Given the description of an element on the screen output the (x, y) to click on. 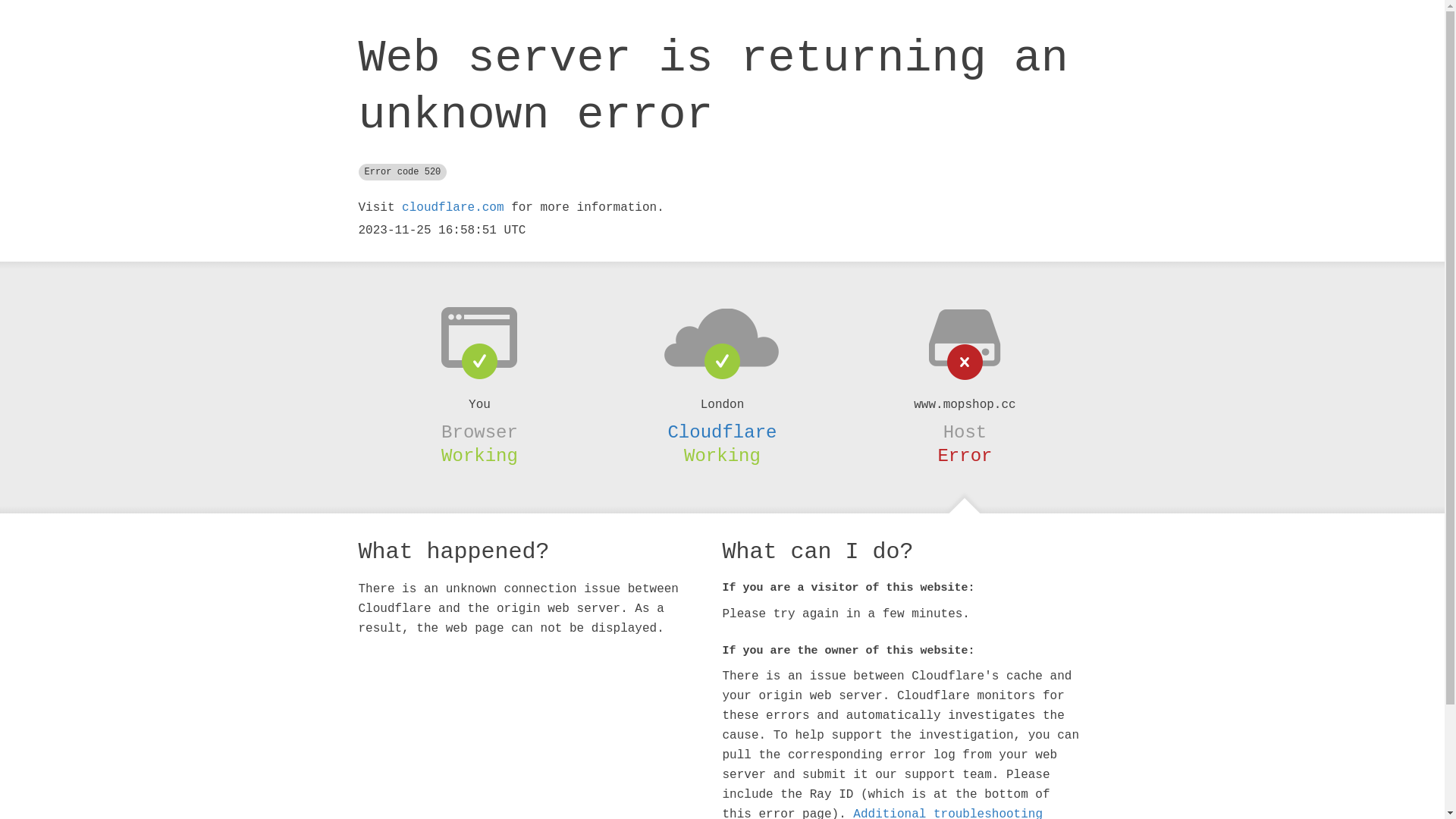
cloudflare.com Element type: text (452, 207)
Cloudflare Element type: text (721, 432)
